Given the description of an element on the screen output the (x, y) to click on. 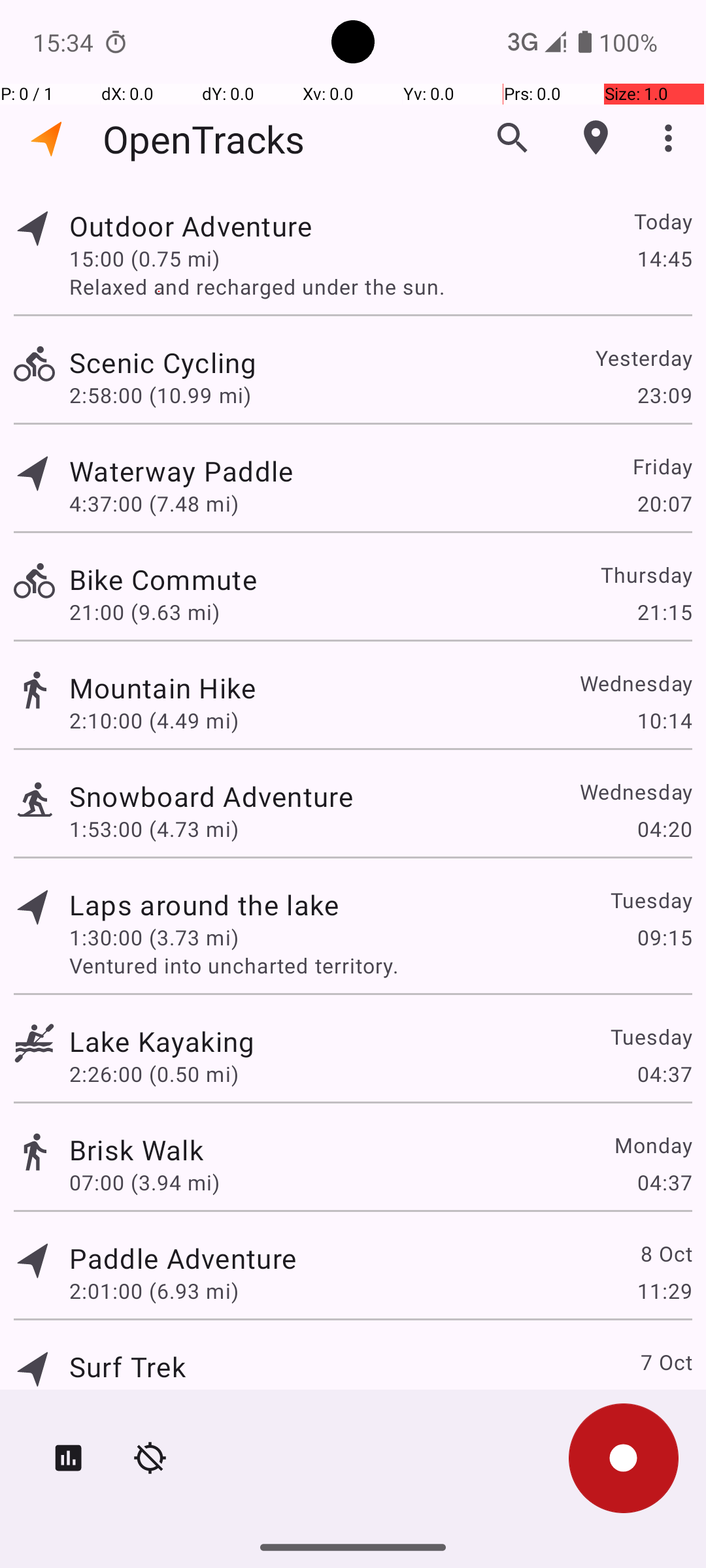
Outdoor Adventure Element type: android.widget.TextView (190, 225)
15:00 (0.75 mi) Element type: android.widget.TextView (144, 258)
14:45 Element type: android.widget.TextView (664, 258)
Relaxed and recharged under the sun. Element type: android.widget.TextView (380, 286)
Scenic Cycling Element type: android.widget.TextView (162, 361)
2:58:00 (10.99 mi) Element type: android.widget.TextView (159, 394)
23:09 Element type: android.widget.TextView (664, 394)
Waterway Paddle Element type: android.widget.TextView (180, 470)
4:37:00 (7.48 mi) Element type: android.widget.TextView (153, 503)
20:07 Element type: android.widget.TextView (664, 503)
Bike Commute Element type: android.widget.TextView (162, 578)
21:00 (9.63 mi) Element type: android.widget.TextView (144, 611)
21:15 Element type: android.widget.TextView (664, 611)
Mountain Hike Element type: android.widget.TextView (162, 687)
2:10:00 (4.49 mi) Element type: android.widget.TextView (153, 720)
10:14 Element type: android.widget.TextView (664, 720)
Snowboard Adventure Element type: android.widget.TextView (210, 795)
1:53:00 (4.73 mi) Element type: android.widget.TextView (153, 828)
04:20 Element type: android.widget.TextView (664, 828)
Laps around the lake Element type: android.widget.TextView (203, 904)
1:30:00 (3.73 mi) Element type: android.widget.TextView (153, 937)
09:15 Element type: android.widget.TextView (664, 937)
Ventured into uncharted territory. Element type: android.widget.TextView (380, 965)
Lake Kayaking Element type: android.widget.TextView (161, 1040)
2:26:00 (0.50 mi) Element type: android.widget.TextView (153, 1073)
04:37 Element type: android.widget.TextView (664, 1073)
Brisk Walk Element type: android.widget.TextView (135, 1149)
07:00 (3.94 mi) Element type: android.widget.TextView (144, 1182)
Paddle Adventure Element type: android.widget.TextView (182, 1257)
2:01:00 (6.93 mi) Element type: android.widget.TextView (153, 1290)
11:29 Element type: android.widget.TextView (664, 1290)
Surf Trek Element type: android.widget.TextView (127, 1366)
7 Oct Element type: android.widget.TextView (665, 1361)
48:00 (4.20 mi) Element type: android.widget.TextView (144, 1399)
05:20 Element type: android.widget.TextView (664, 1399)
